Given the description of an element on the screen output the (x, y) to click on. 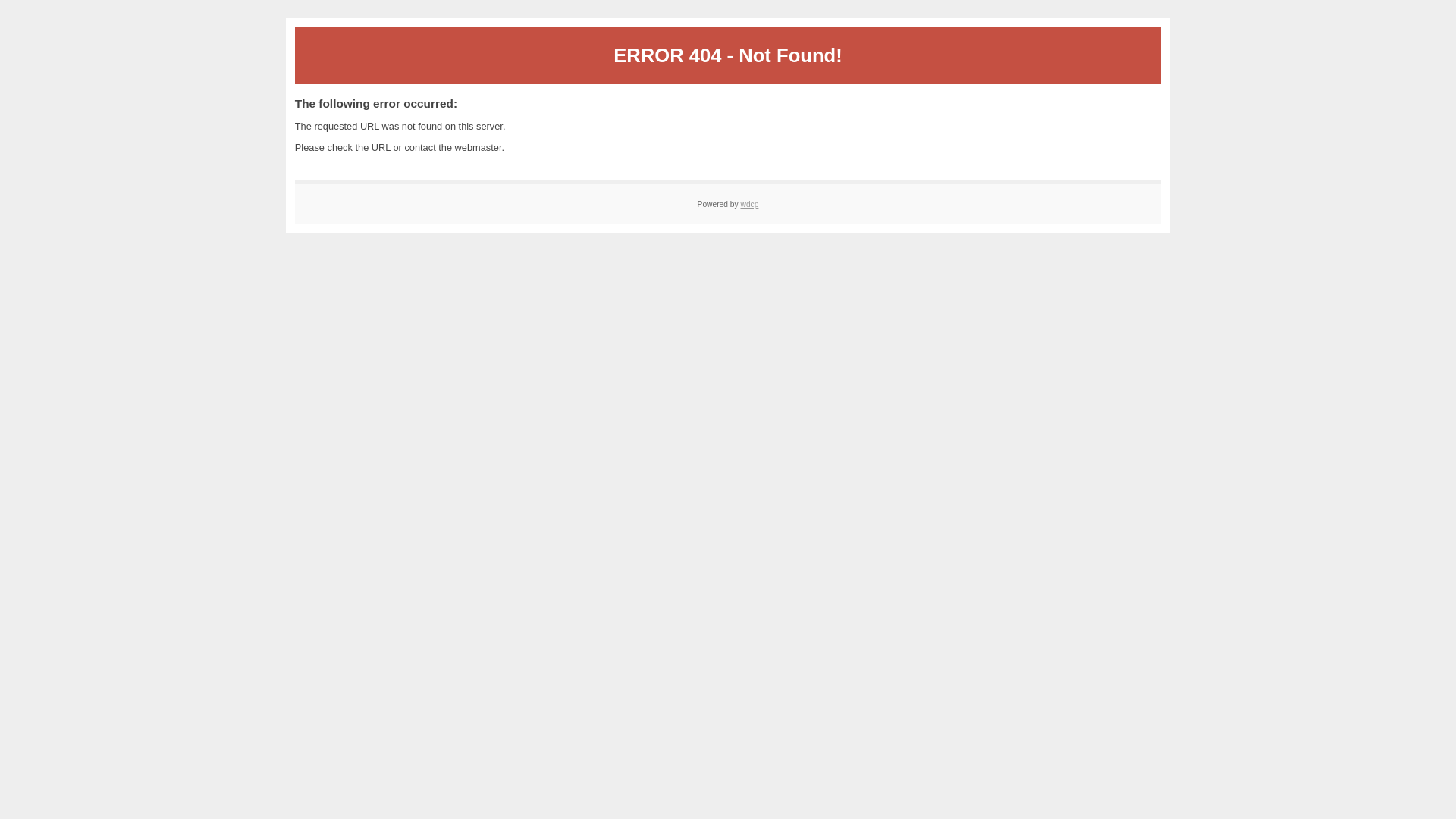
wdcp Element type: text (749, 204)
